Given the description of an element on the screen output the (x, y) to click on. 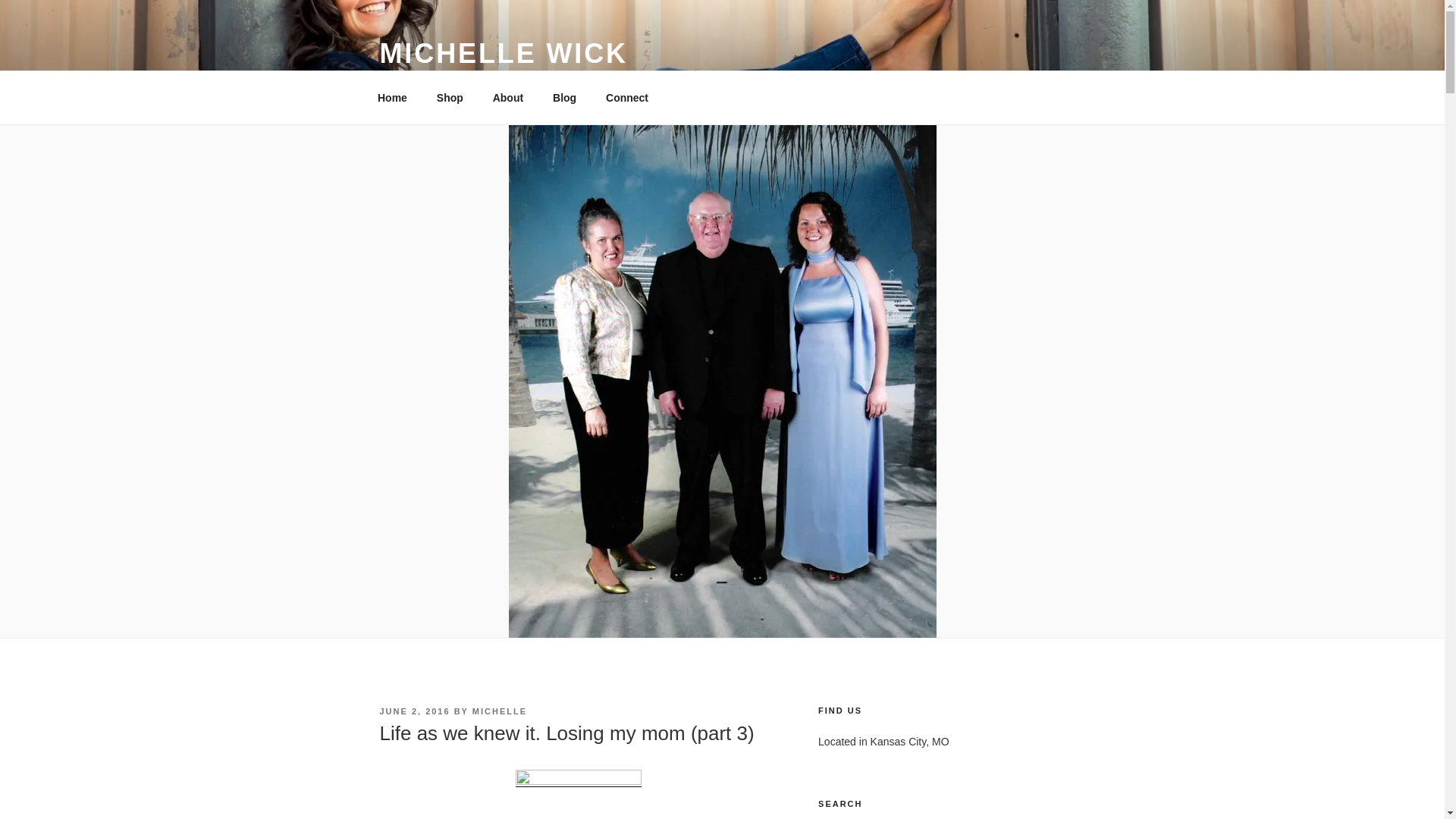
JUNE 2, 2016 (413, 710)
Home (392, 97)
MICHELLE WICK (502, 52)
Connect (627, 97)
About (507, 97)
MICHELLE (499, 710)
Shop (449, 97)
Blog (564, 97)
